Given the description of an element on the screen output the (x, y) to click on. 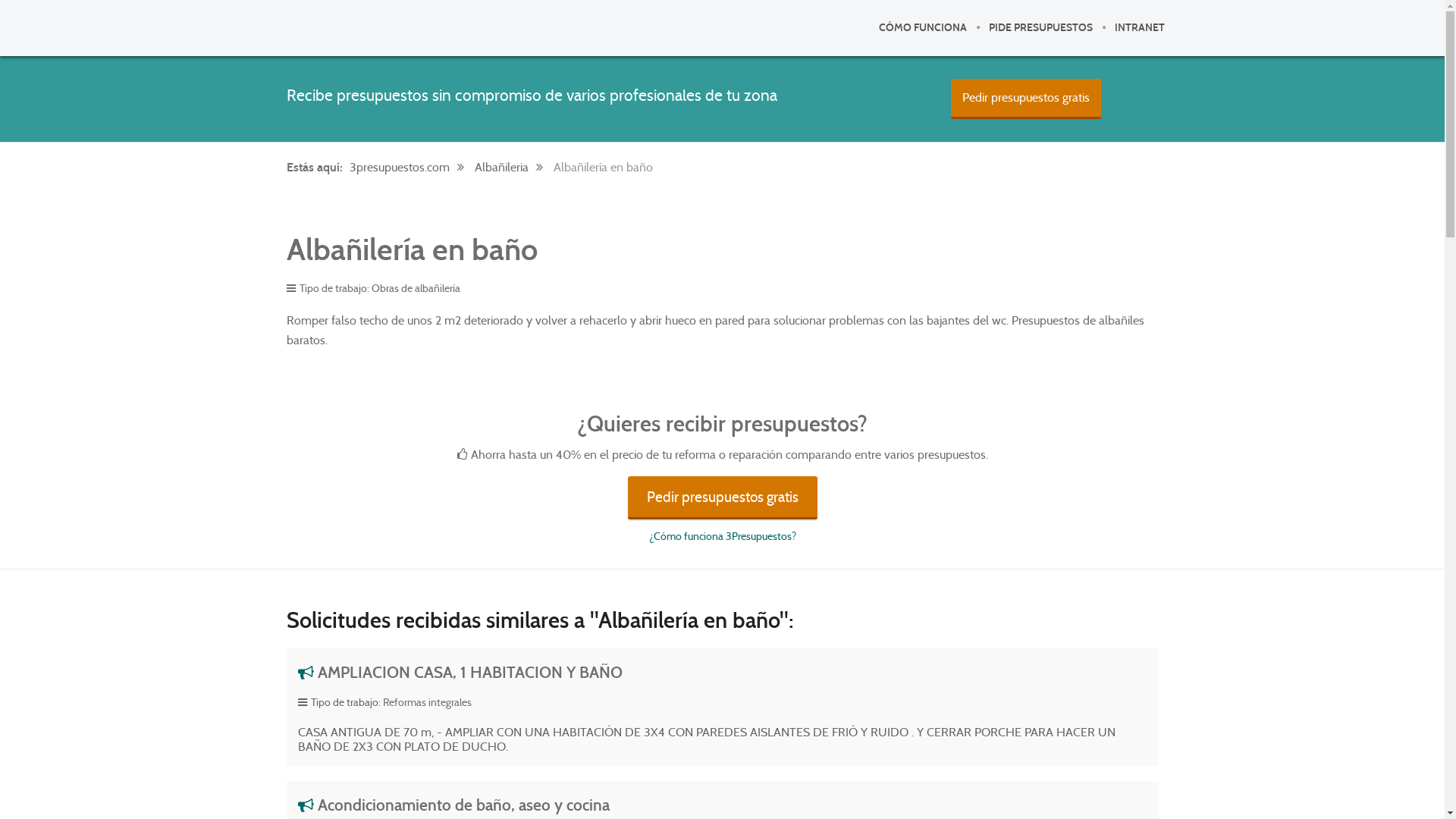
INTRANET Element type: text (1138, 27)
3presupuestos.com Element type: text (409, 167)
Pedir presupuestos gratis Element type: text (1025, 98)
Pedir presupuestos gratis Element type: text (722, 497)
PIDE PRESUPUESTOS Element type: text (1039, 27)
Reformas integrales Element type: text (426, 702)
